Given the description of an element on the screen output the (x, y) to click on. 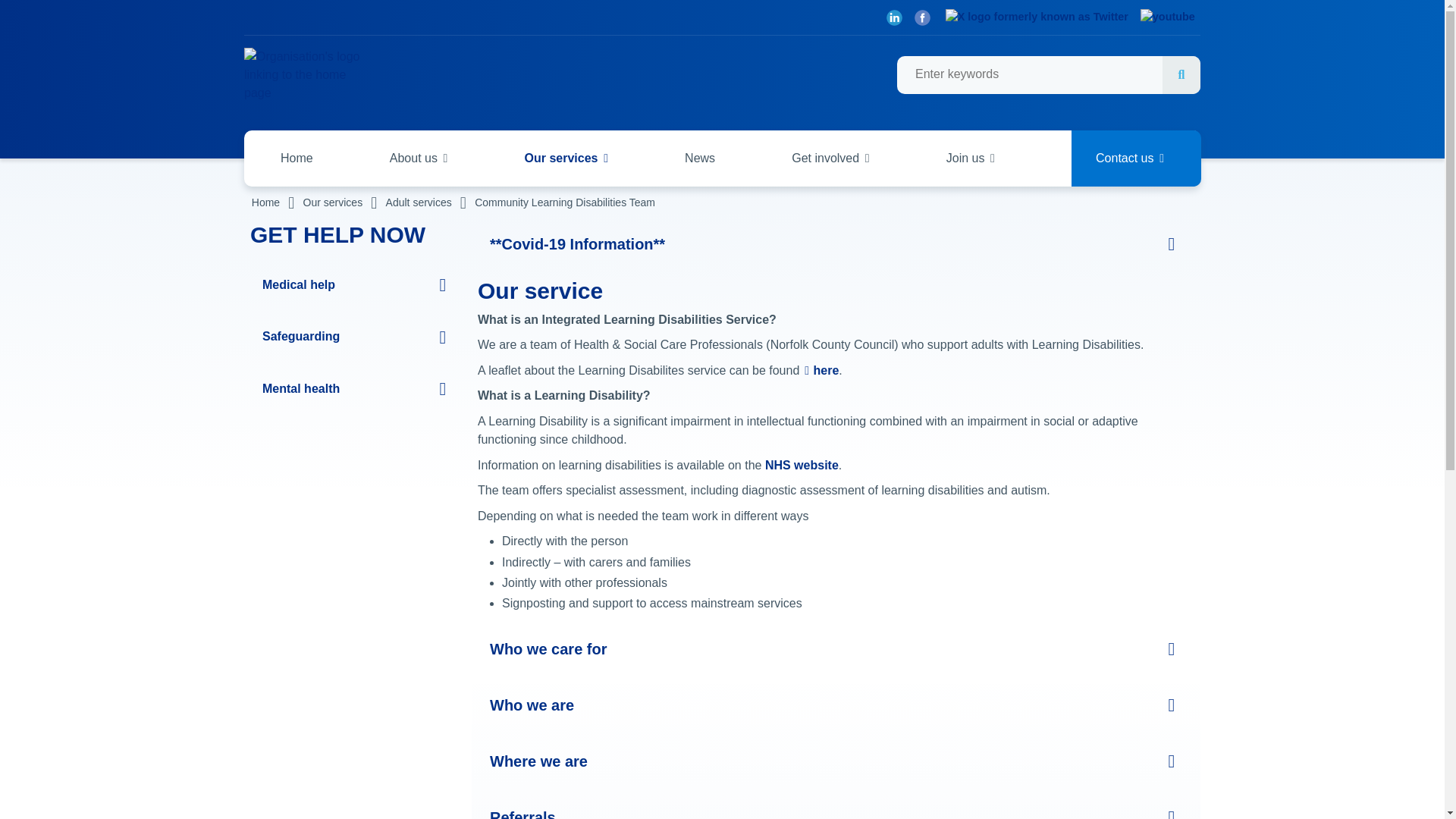
Contact us (1135, 158)
search (1047, 75)
download this document in a new window (821, 369)
About us (419, 158)
Our services (566, 158)
Get involved (830, 158)
